Given the description of an element on the screen output the (x, y) to click on. 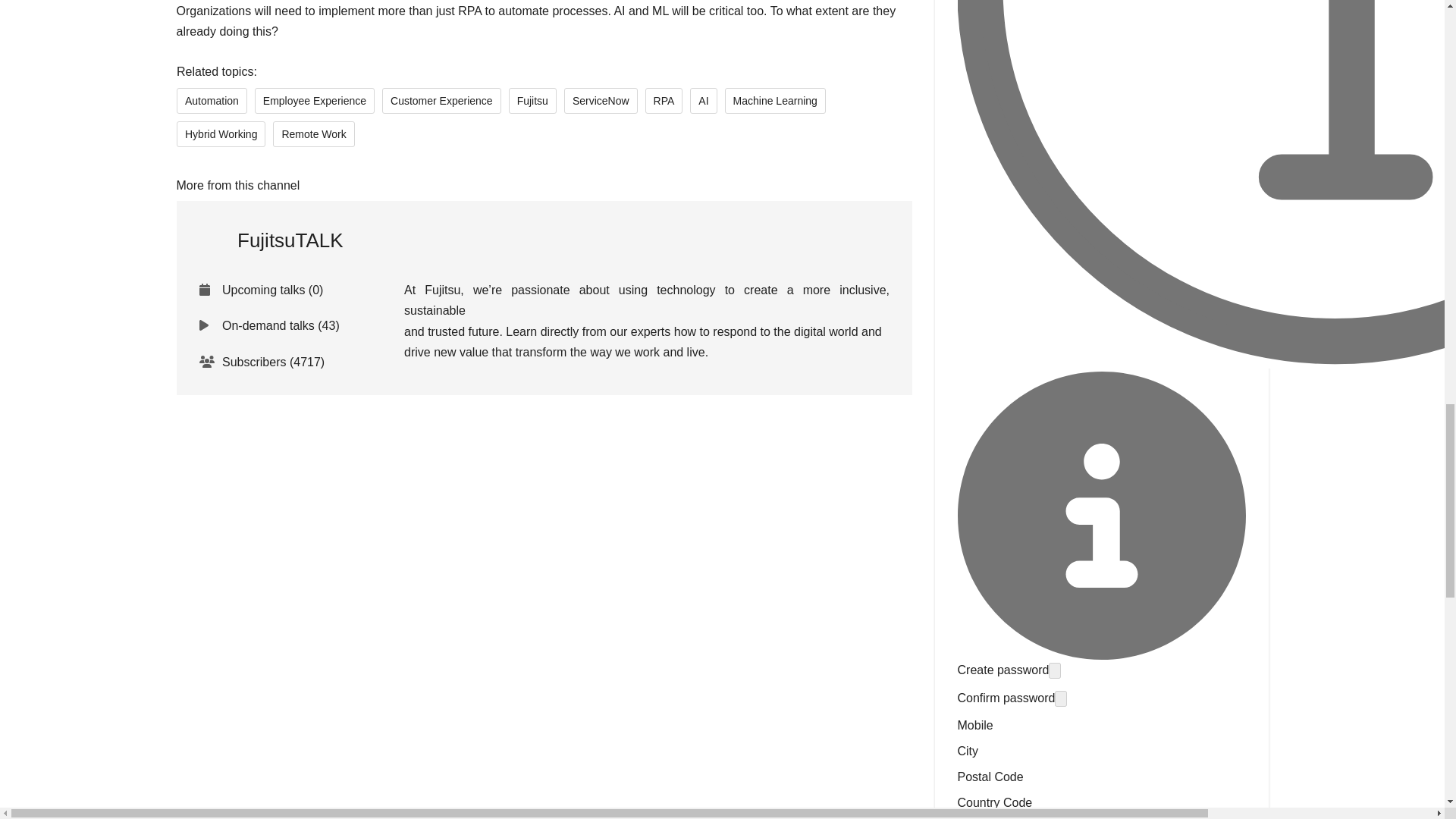
Automation (211, 100)
Fujitsu (532, 100)
Visit FujitsuTALK's channel (270, 240)
FujitsuTALK (270, 240)
Hybrid Working (220, 134)
ServiceNow (600, 100)
Employee Experience (313, 100)
AI (703, 100)
Remote Work (313, 134)
Machine Learning (774, 100)
RPA (663, 100)
Customer Experience (440, 100)
